Given the description of an element on the screen output the (x, y) to click on. 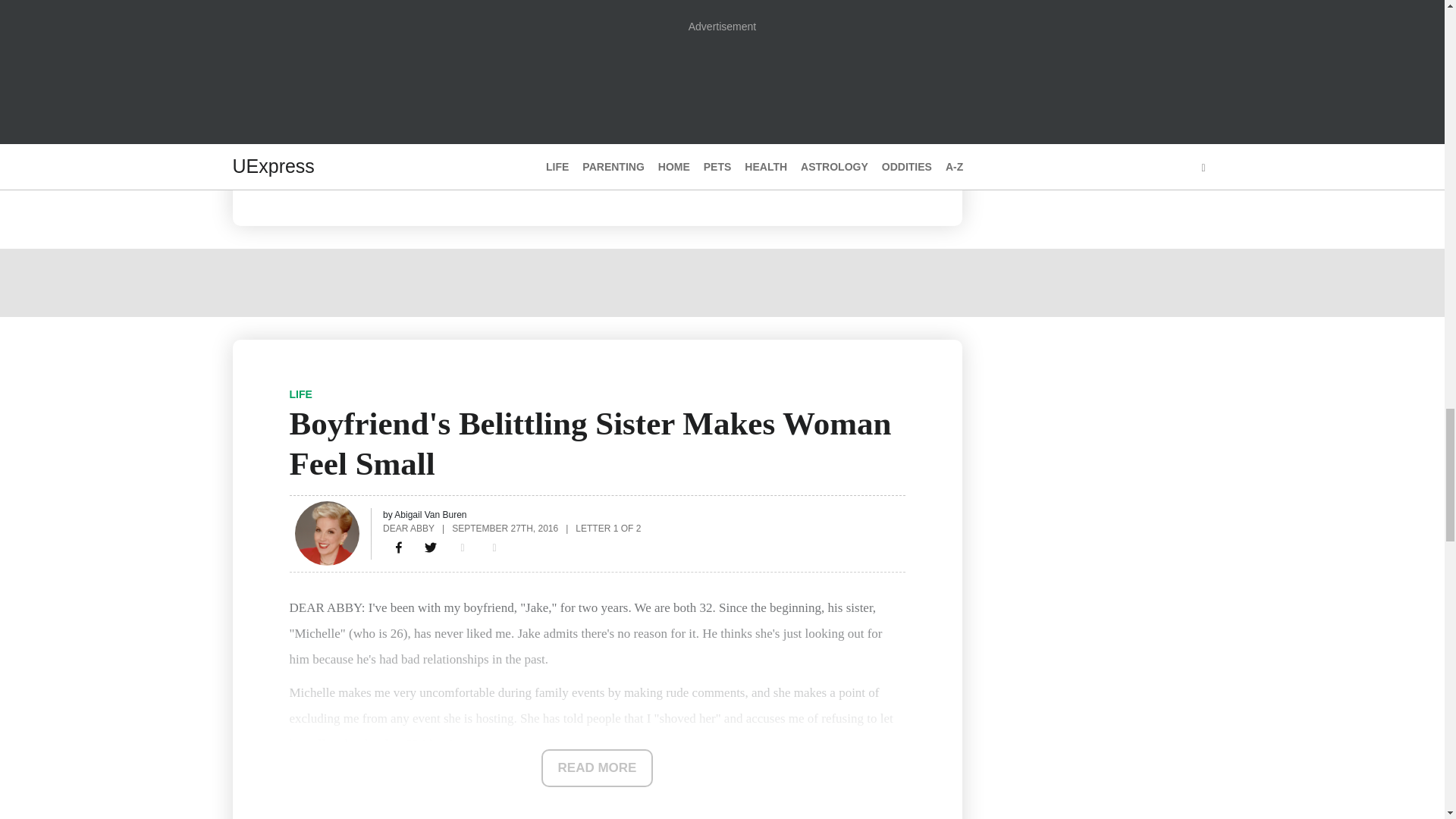
LIFE (301, 394)
VIEW COMMENTS (361, 161)
Boyfriend's Belittling Sister Makes Woman Feel Small (398, 547)
DEAR ABBY (407, 528)
